Given the description of an element on the screen output the (x, y) to click on. 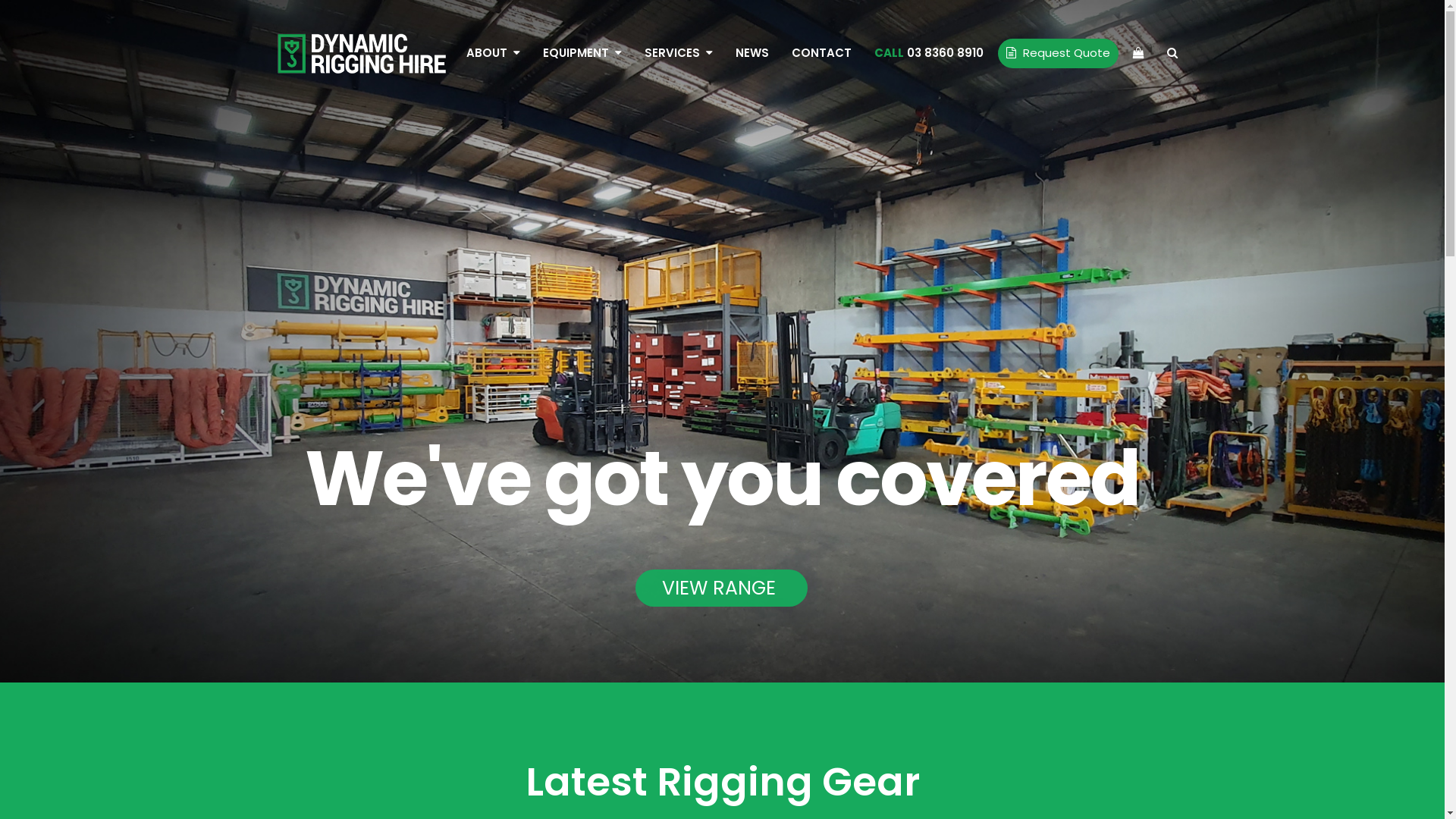
SERVICES Element type: text (677, 53)
CALL 03 8360 8910 Element type: text (928, 53)
ABOUT Element type: text (493, 53)
CONTACT Element type: text (820, 53)
NEWS Element type: text (751, 53)
EQUIPMENT Element type: text (581, 53)
Submit Element type: text (517, 535)
VIEW RANGE Element type: text (721, 587)
Request Quote Element type: text (1057, 53)
